Given the description of an element on the screen output the (x, y) to click on. 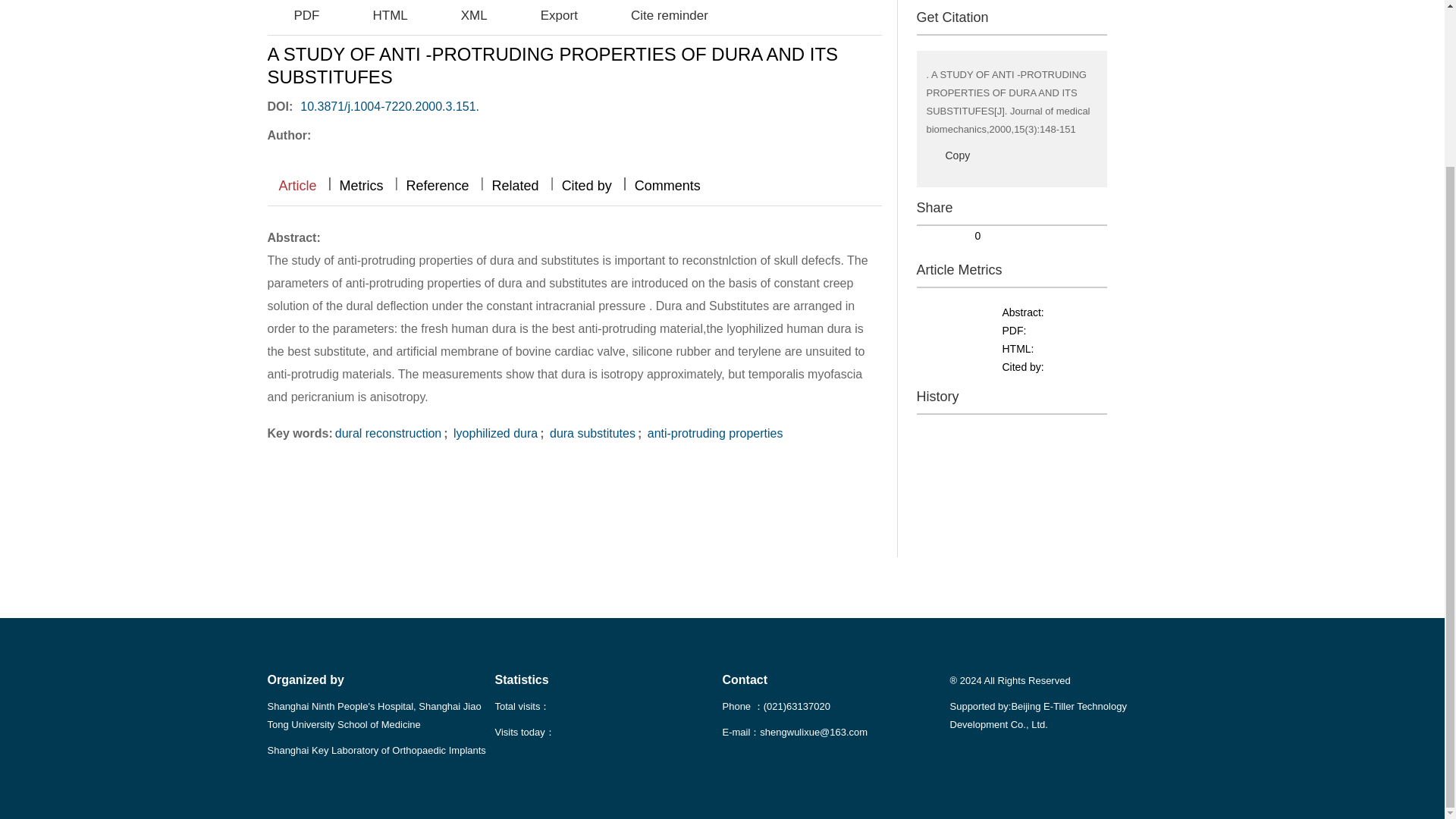
XML (460, 15)
Cite reminder (655, 15)
Contact author:,Email:  (442, 133)
Contact author:,Email:  (402, 133)
HTML (376, 15)
PDF (292, 15)
Export (545, 15)
Contact author:,Email:  (323, 133)
Contact author:,Email:  (362, 133)
